Given the description of an element on the screen output the (x, y) to click on. 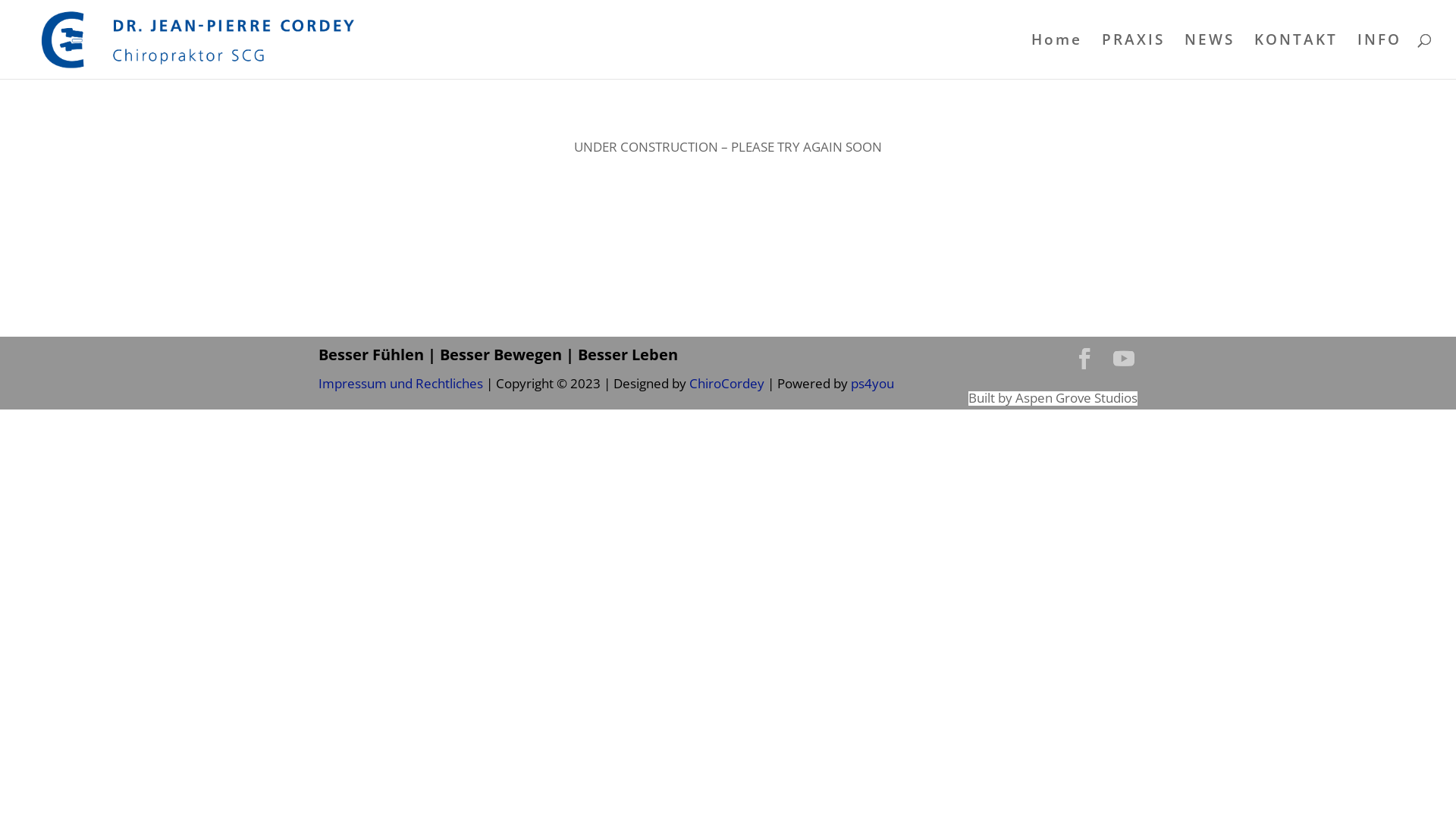
INFO Element type: text (1379, 56)
ChiroCordey  Element type: text (728, 383)
PRAXIS Element type: text (1132, 56)
NEWS Element type: text (1209, 56)
Home Element type: text (1056, 56)
 ps4you Element type: text (870, 383)
KONTAKT Element type: text (1295, 56)
Impressum und Rechtliches Element type: text (400, 383)
